Given the description of an element on the screen output the (x, y) to click on. 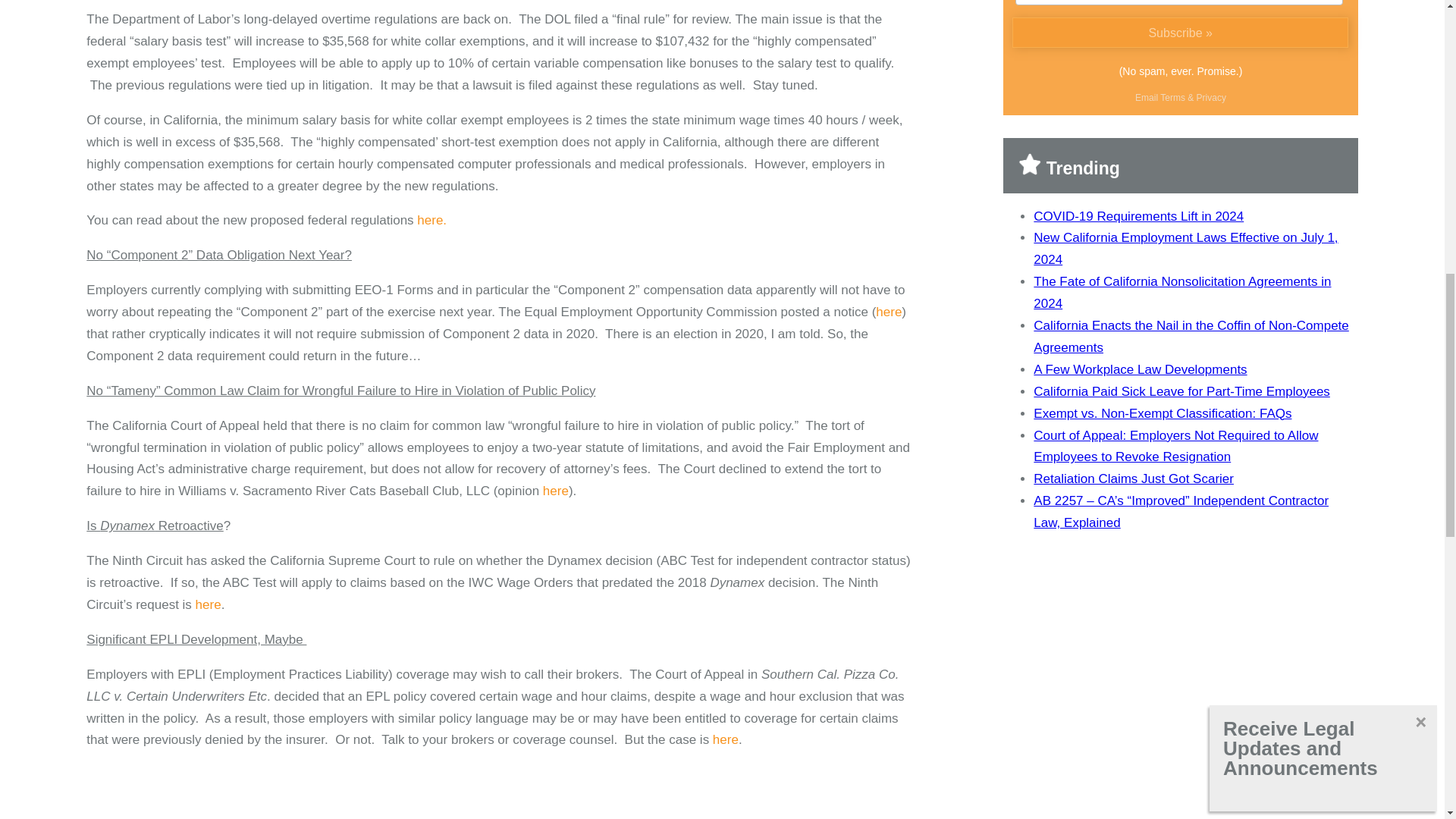
Your email address: (1178, 2)
Email subscriptions privacy policy (1210, 97)
Email subscriptions terms of service (1172, 97)
